Given the description of an element on the screen output the (x, y) to click on. 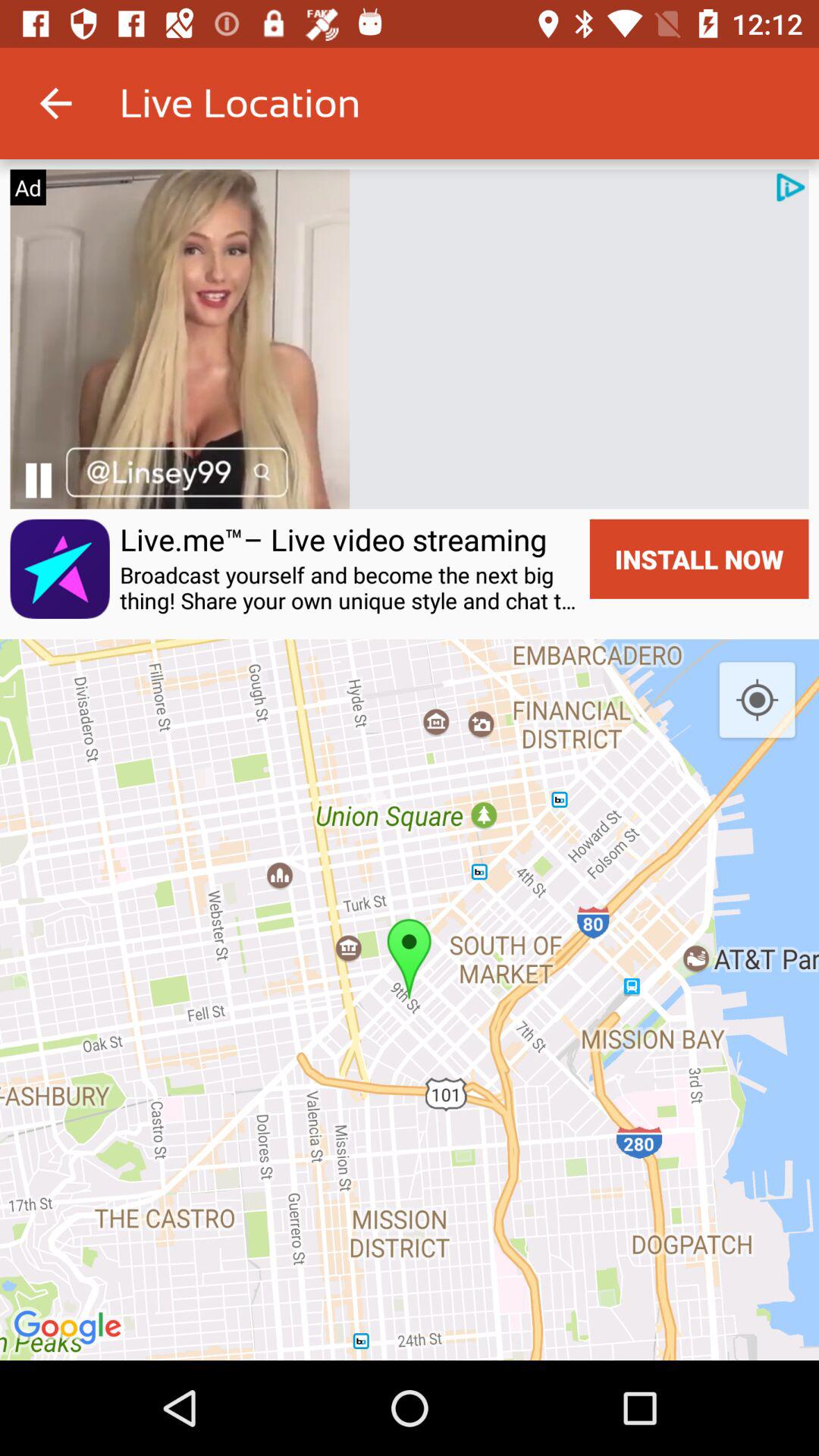
toggle play/pause button (38, 480)
